Given the description of an element on the screen output the (x, y) to click on. 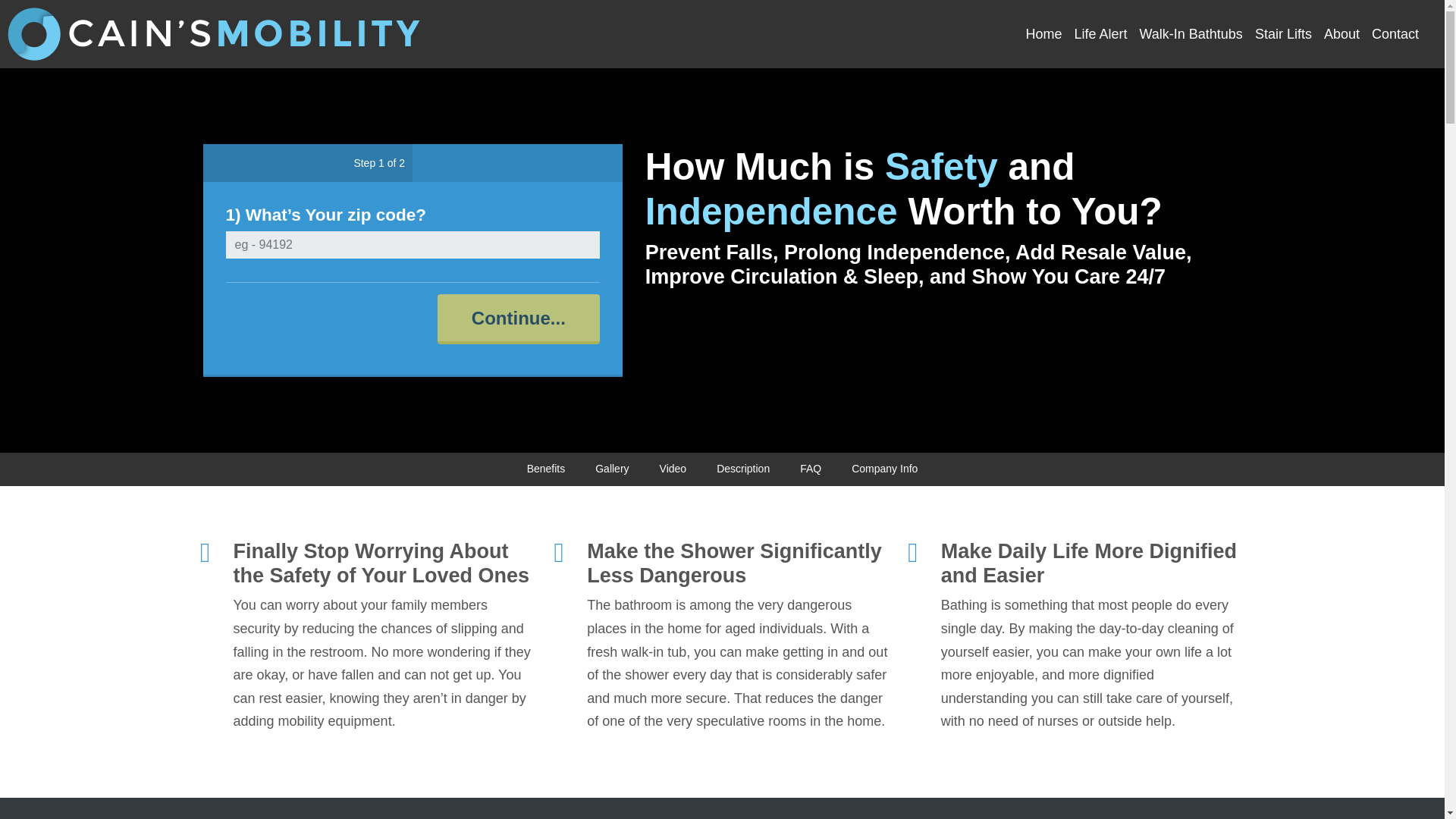
FAQ (810, 469)
Description (742, 469)
Video (672, 469)
Continue... (518, 318)
About (1341, 34)
Benefits (545, 469)
Walk-In Bathtubs (1189, 34)
Stair Lifts (1283, 34)
Home (1043, 34)
Walk-In Bathtubs (1189, 34)
